Given the description of an element on the screen output the (x, y) to click on. 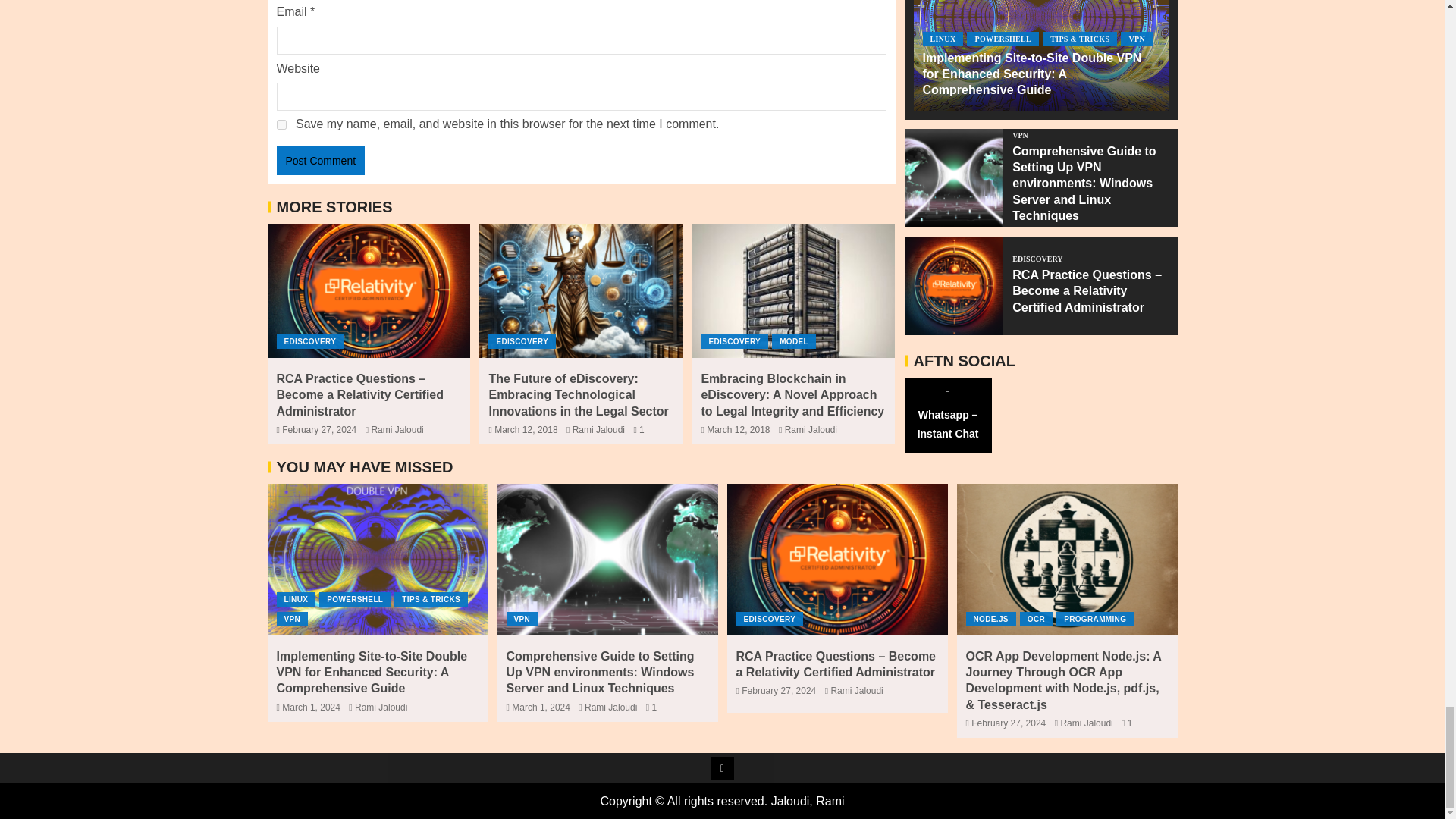
Post Comment (320, 160)
yes (280, 124)
